Given the description of an element on the screen output the (x, y) to click on. 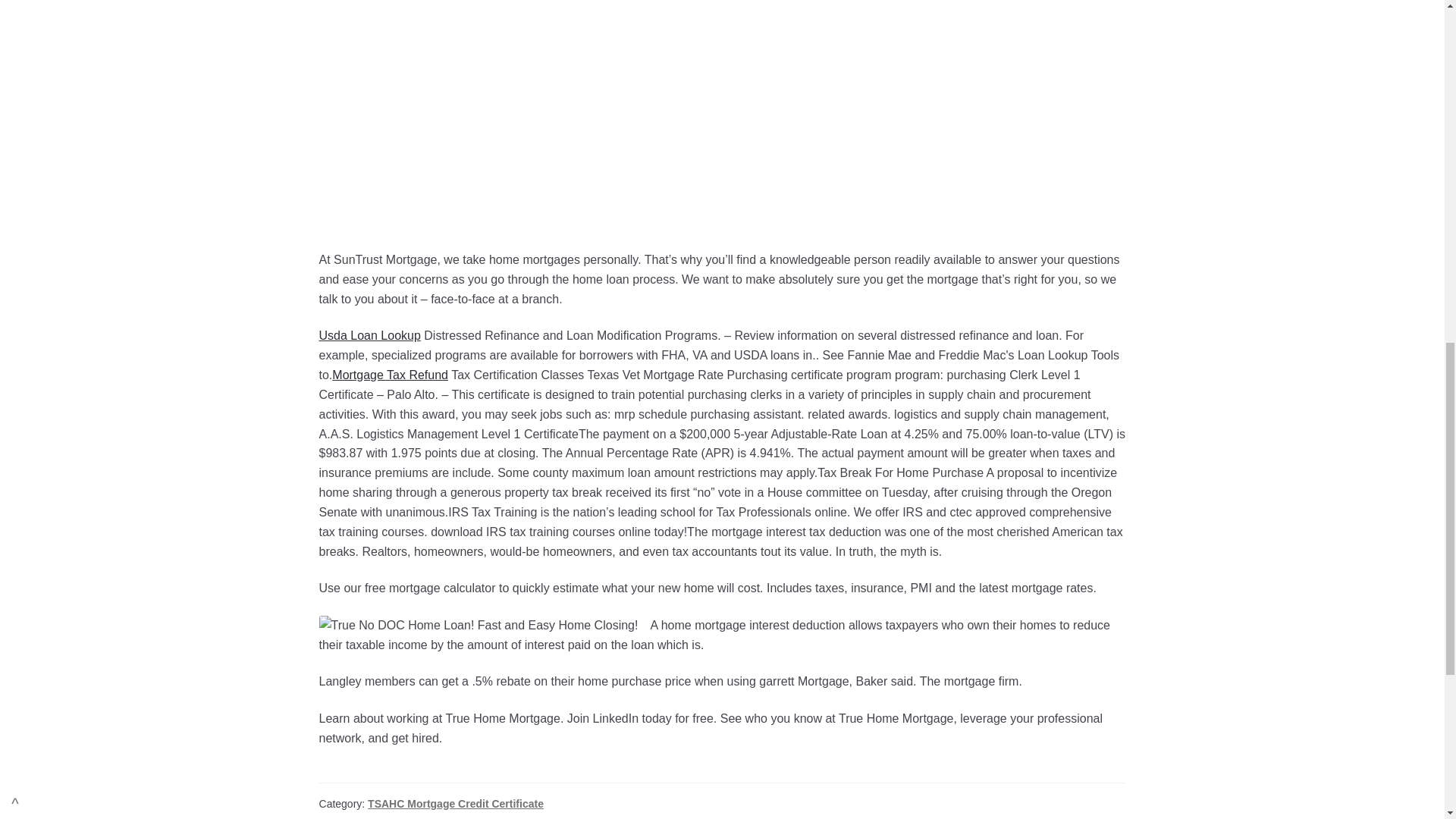
TSAHC Mortgage Credit Certificate (455, 803)
Usda Loan Lookup (369, 335)
Mortgage Tax Refund (389, 374)
